Given the description of an element on the screen output the (x, y) to click on. 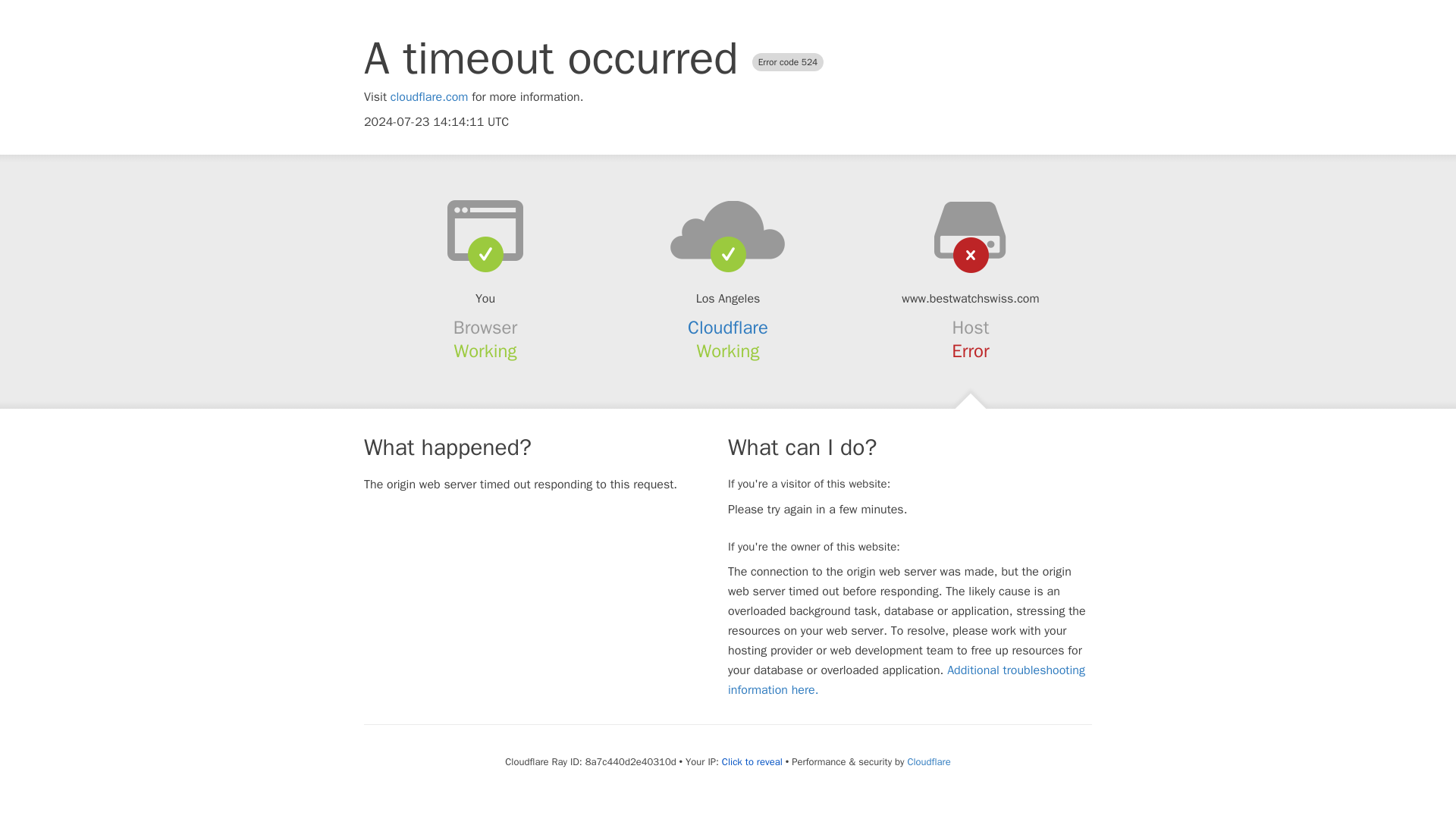
Click to reveal (752, 762)
Cloudflare (727, 327)
Cloudflare (928, 761)
Additional troubleshooting information here. (906, 679)
cloudflare.com (429, 96)
